Given the description of an element on the screen output the (x, y) to click on. 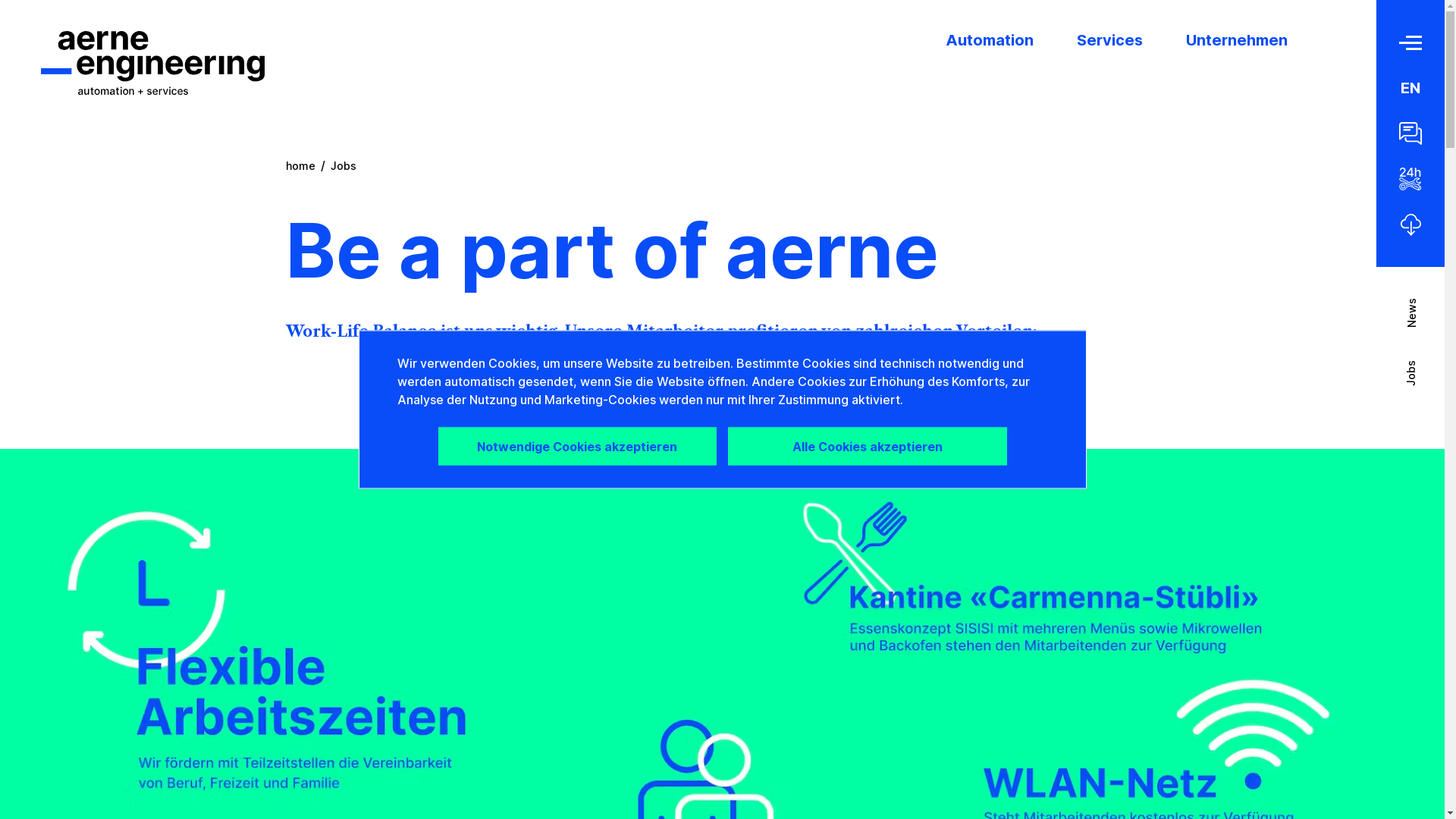
News Element type: text (1394, 327)
Jobs Element type: text (1392, 390)
Services Element type: text (1109, 40)
home Element type: text (299, 165)
EN Element type: text (1410, 87)
Automation Element type: text (989, 40)
Unternehmen Element type: text (1236, 40)
Jobs Element type: text (343, 165)
